Given the description of an element on the screen output the (x, y) to click on. 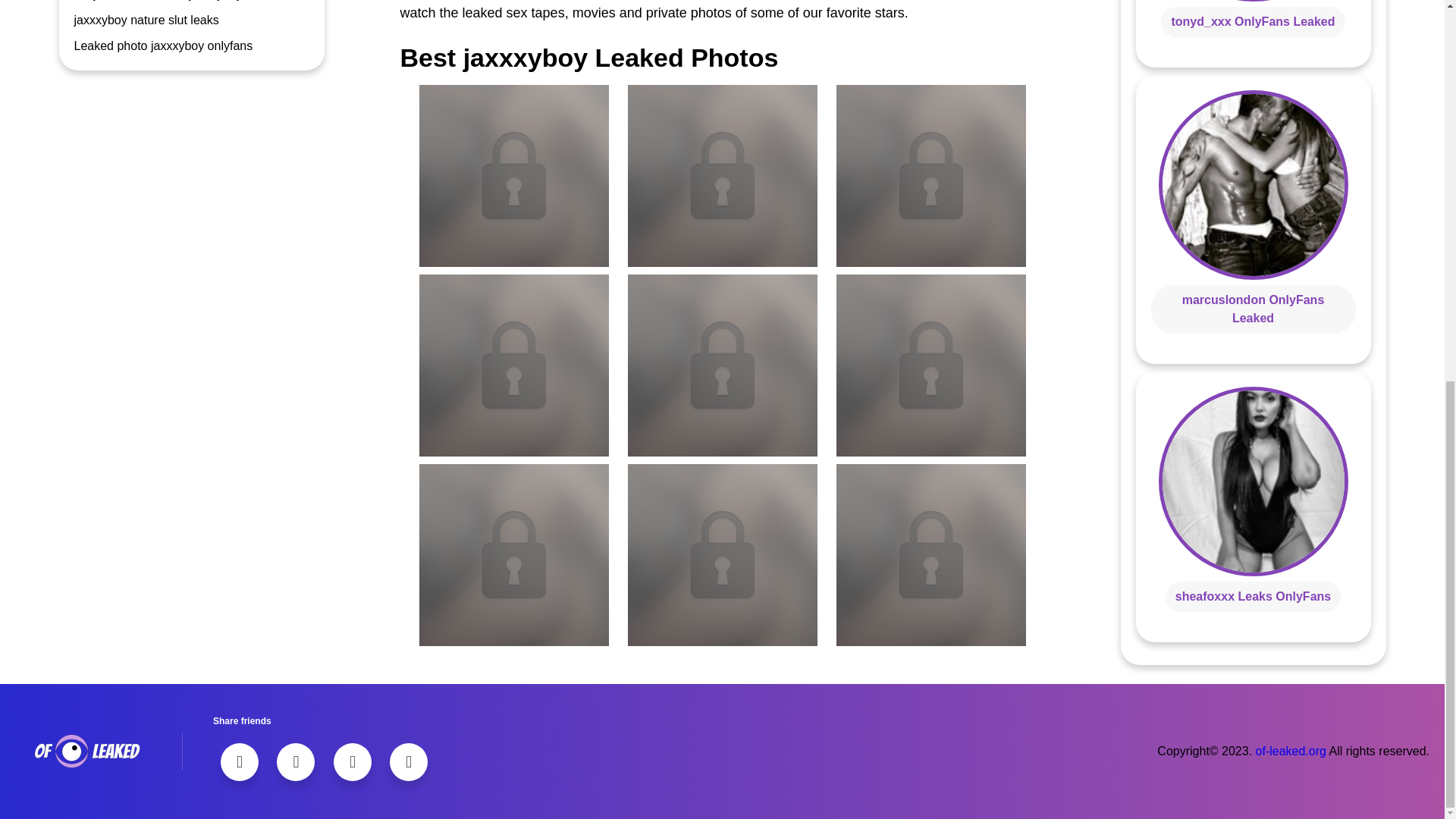
of-leaked.org (1290, 750)
marcuslondon OnlyFans Leaked (1253, 307)
sheafoxxx Leaks OnlyFans (1252, 595)
